Given the description of an element on the screen output the (x, y) to click on. 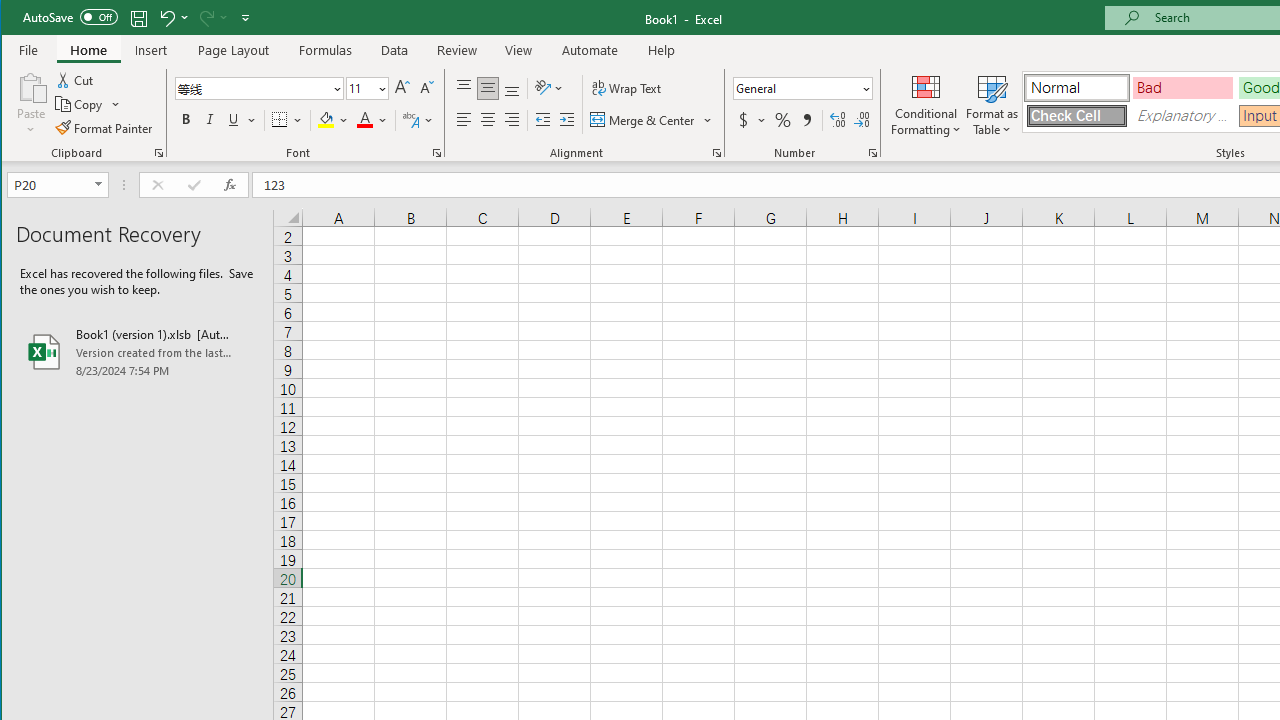
Recommended Charts (809, 152)
Quick Access Toolbar (137, 17)
Line (904, 104)
SmartArt... (436, 78)
Automate (589, 50)
Insert Pie or Doughnut Chart (616, 124)
Comment (1227, 104)
Icons (323, 104)
Review (456, 50)
